Given the description of an element on the screen output the (x, y) to click on. 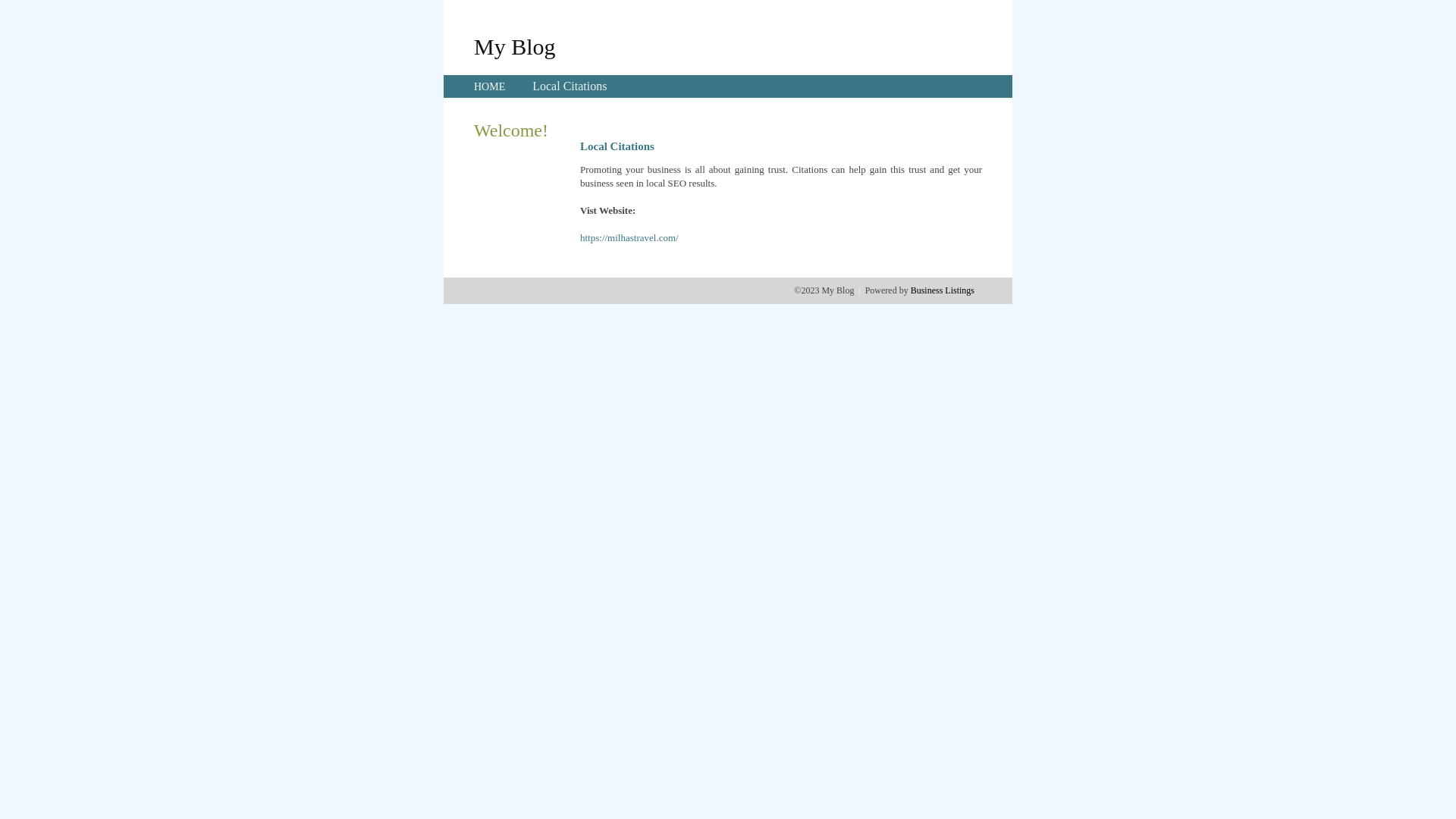
HOME Element type: text (489, 86)
My Blog Element type: text (514, 46)
Business Listings Element type: text (942, 290)
https://milhastravel.com/ Element type: text (629, 237)
Local Citations Element type: text (569, 85)
